Given the description of an element on the screen output the (x, y) to click on. 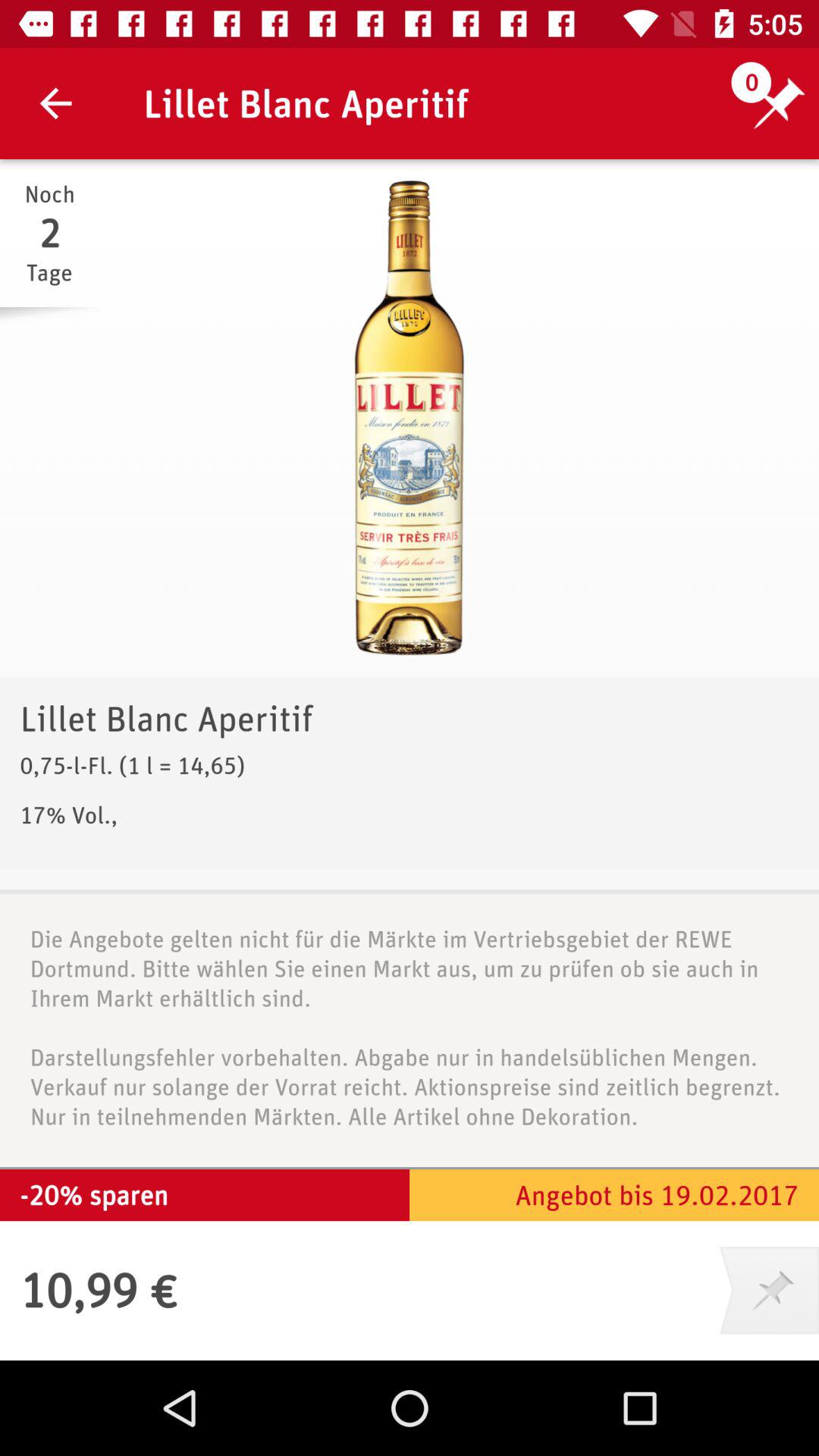
select the item below angebot bis 19 (769, 1290)
